Given the description of an element on the screen output the (x, y) to click on. 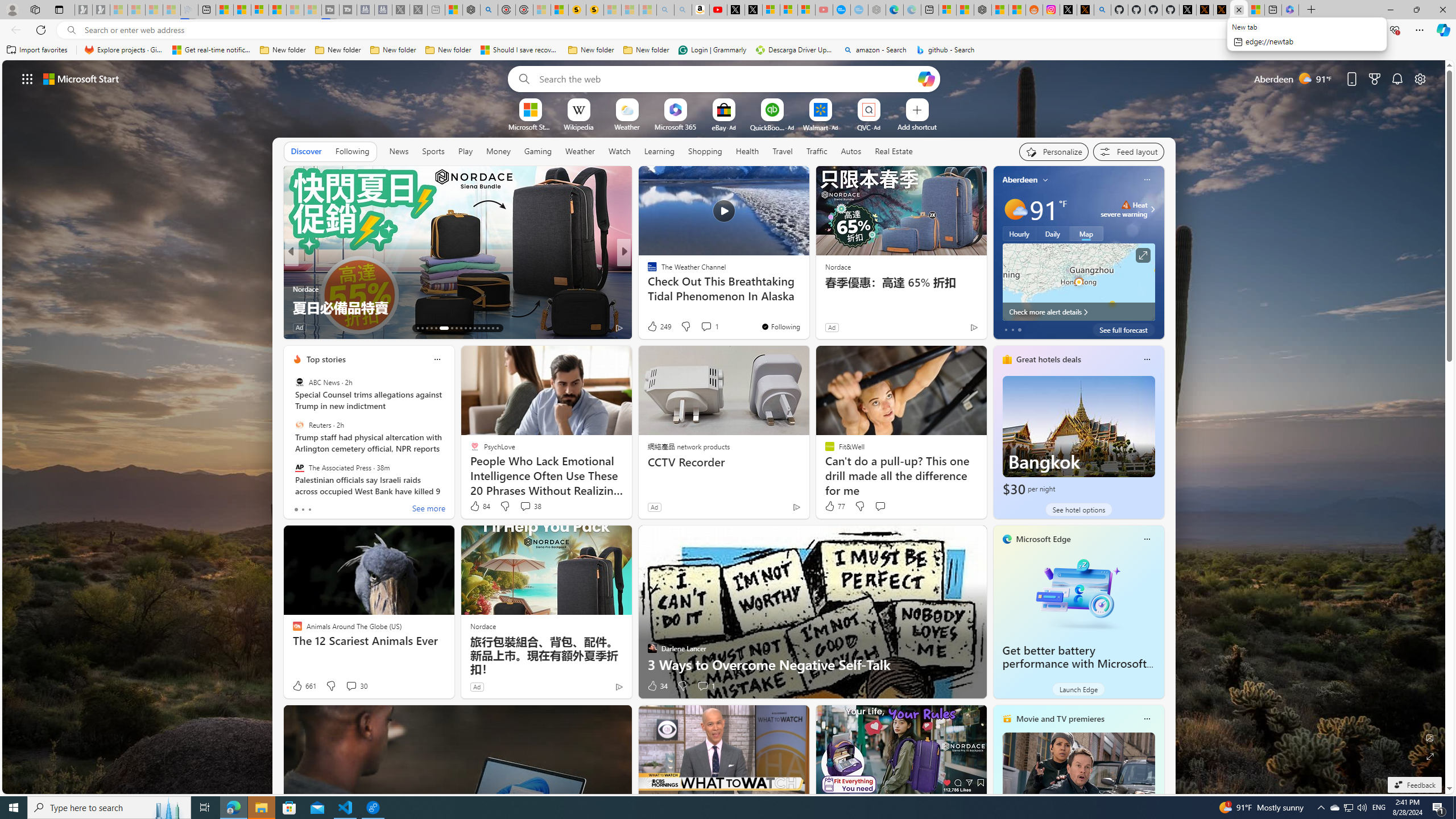
Day 1: Arriving in Yemen (surreal to be here) - YouTube (718, 9)
Learning (658, 151)
Bangkok (1077, 436)
Streaming Coverage | T3 - Sleeping (330, 9)
Travel (782, 151)
New Tab (1311, 9)
Health (746, 151)
Launch Edge (1078, 689)
Daily (1052, 233)
Real Estate (893, 151)
Workspaces (34, 9)
